Given the description of an element on the screen output the (x, y) to click on. 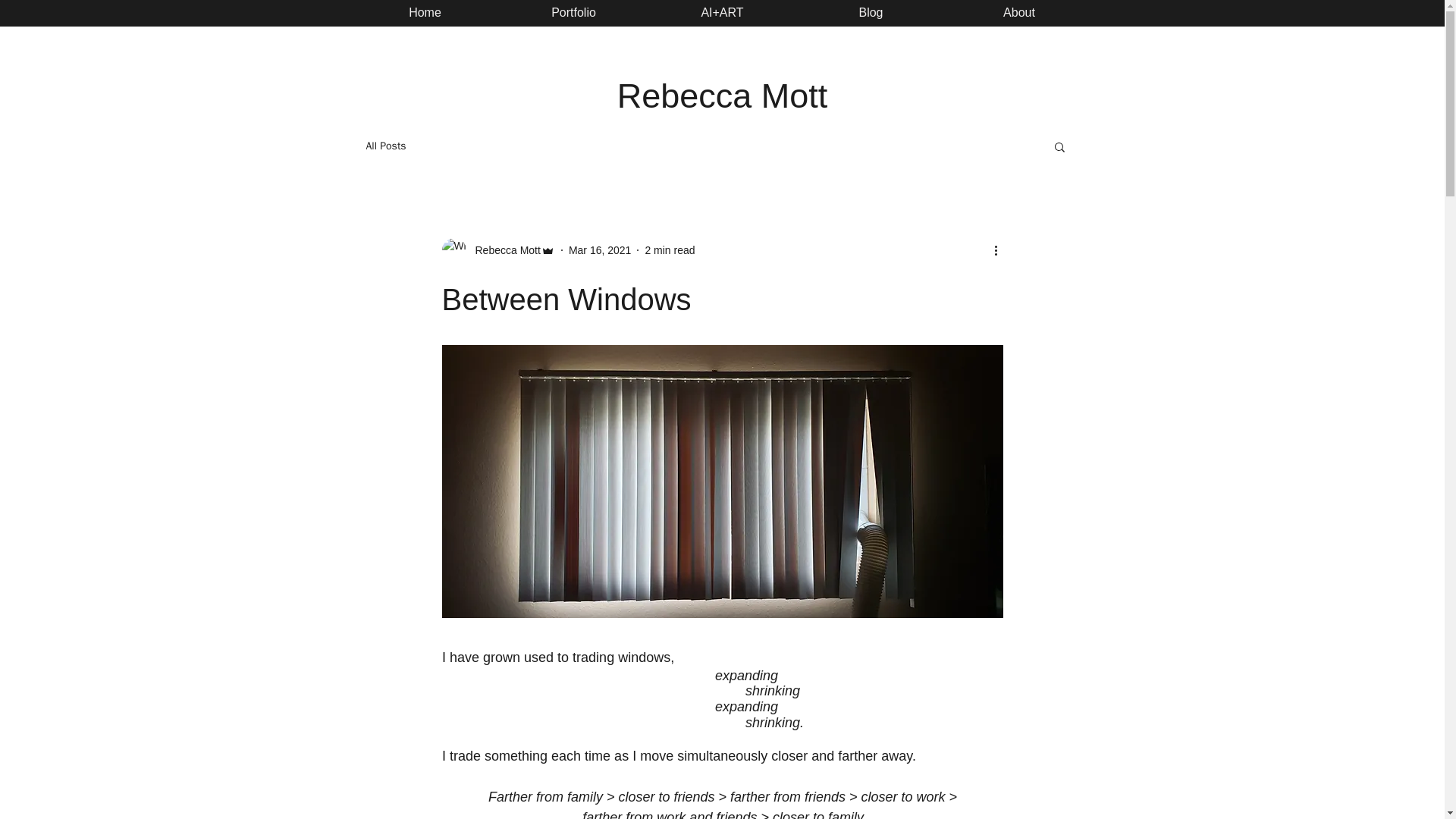
2 min read (669, 250)
Rebecca Mott (497, 250)
Mar 16, 2021 (600, 250)
Portfolio (573, 12)
Rebecca Mott (502, 250)
All Posts (385, 146)
About (1018, 12)
Home (424, 12)
Blog (870, 12)
Rebecca Mott (722, 95)
